Given the description of an element on the screen output the (x, y) to click on. 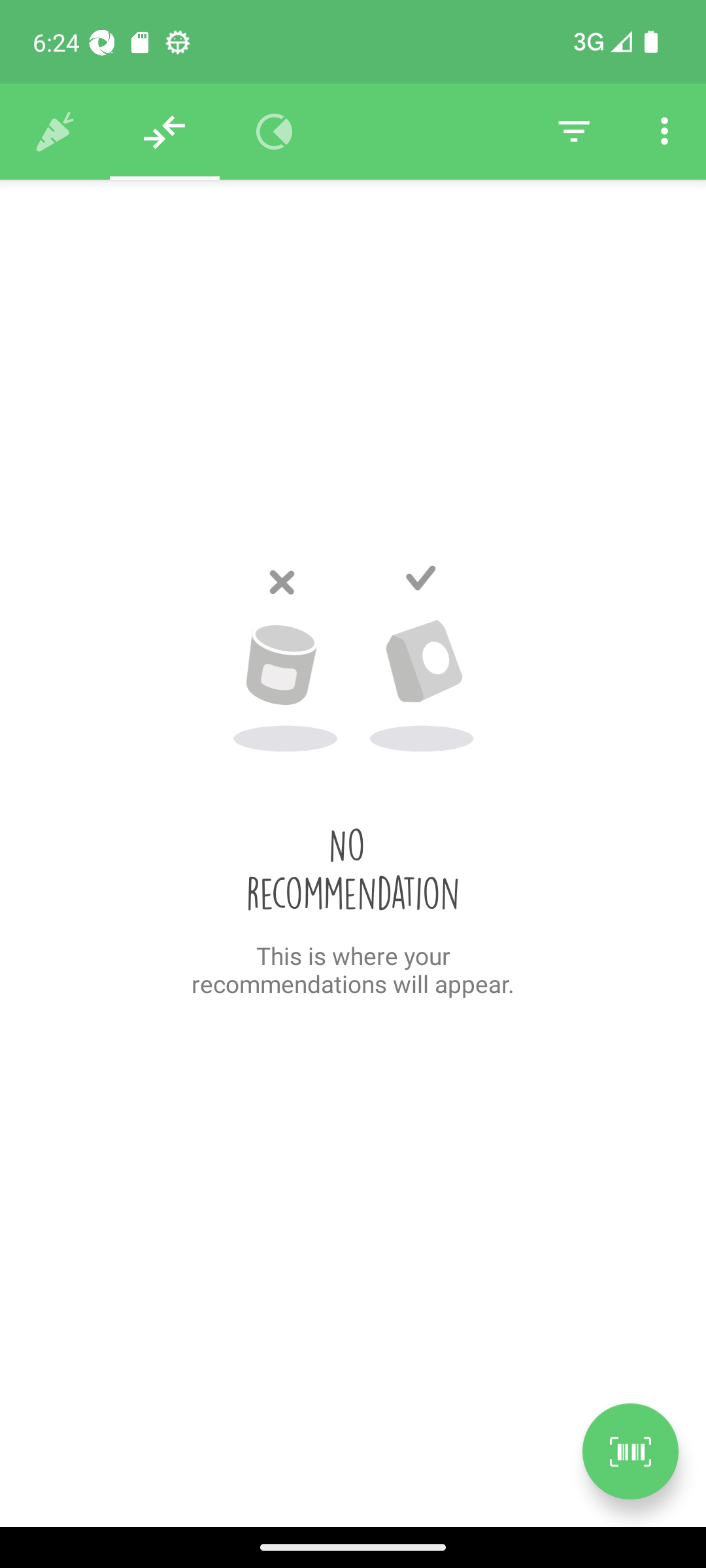
History (55, 131)
Overview (274, 131)
Filter (573, 131)
Settings (664, 131)
Scan a product (630, 1451)
